Given the description of an element on the screen output the (x, y) to click on. 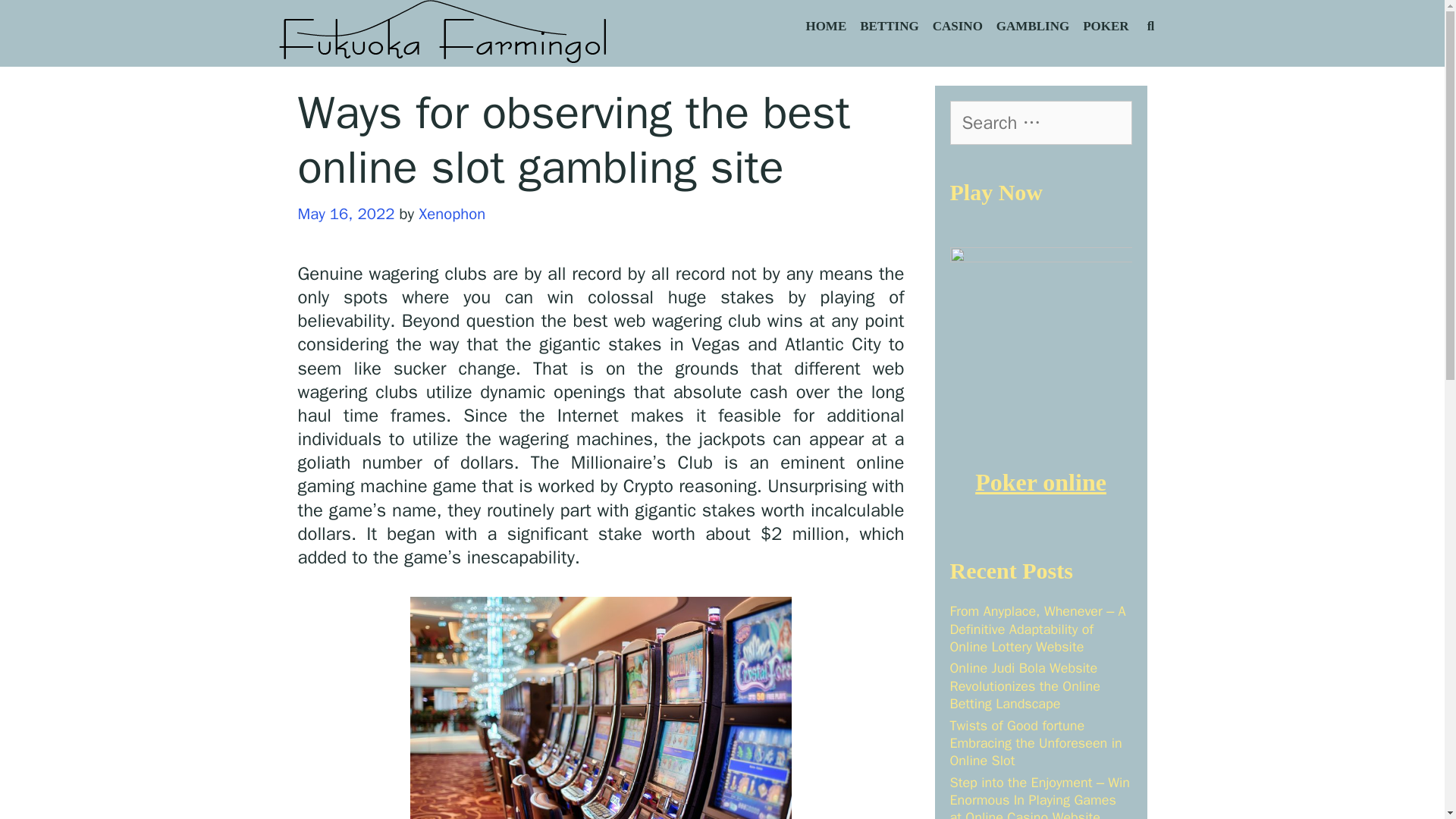
Search (183, 26)
Fukuoka Farmingol (443, 33)
Xenophon (451, 213)
HOME (825, 26)
Search for: (1040, 122)
POKER (1105, 26)
10:03 am (345, 213)
BETTING (888, 26)
Poker online (1040, 482)
